Given the description of an element on the screen output the (x, y) to click on. 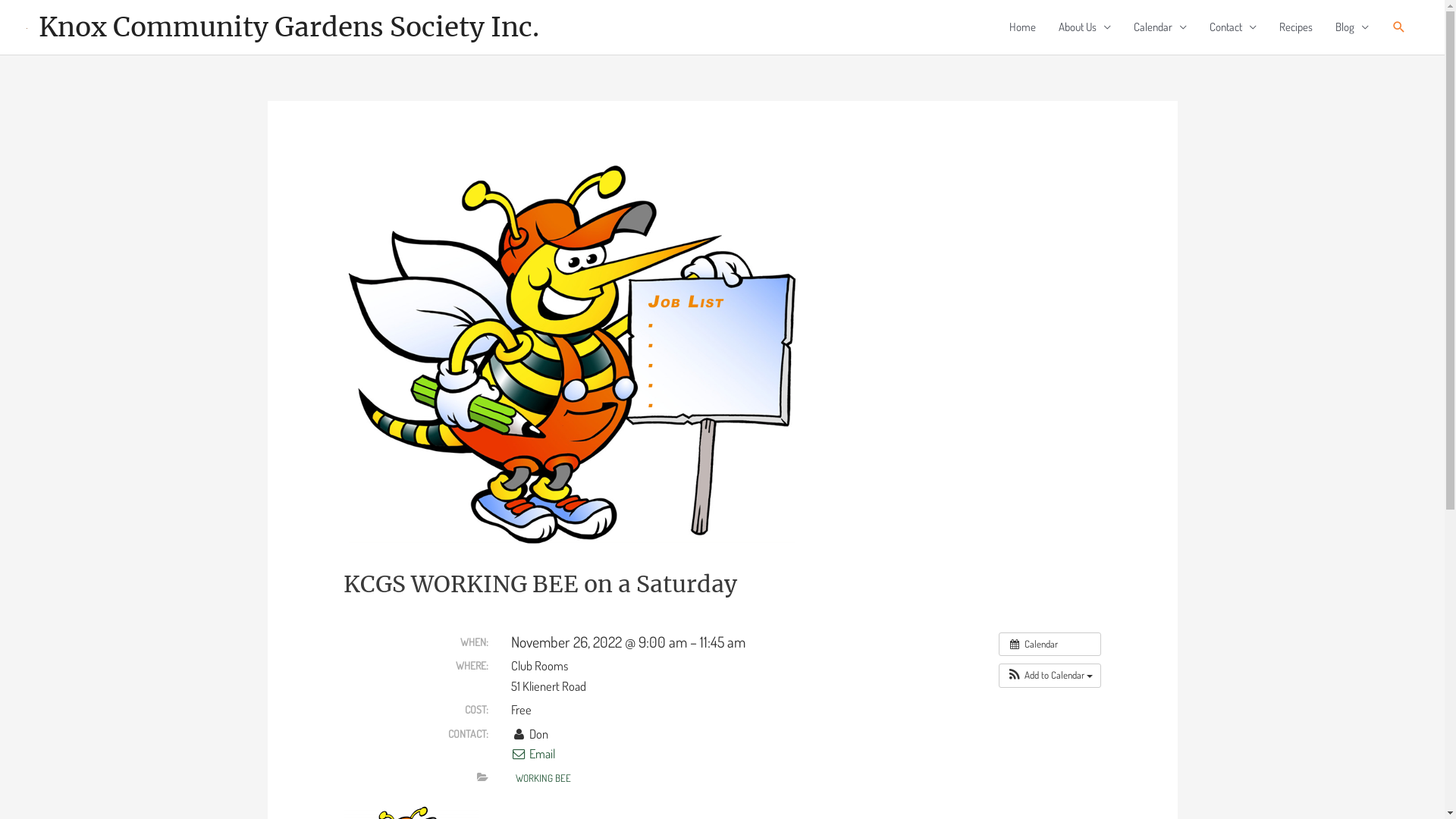
Knox Community Gardens Society Inc. Element type: text (288, 26)
Home Element type: text (1022, 27)
Email Element type: text (533, 753)
Blog Element type: text (1352, 27)
WORKING BEE Element type: text (543, 777)
Search Element type: text (1398, 26)
Categories Element type: hover (482, 776)
Calendar Element type: text (1049, 644)
About Us Element type: text (1084, 27)
Calendar Element type: text (1160, 27)
Recipes Element type: text (1295, 27)
Contact Element type: text (1232, 27)
